Given the description of an element on the screen output the (x, y) to click on. 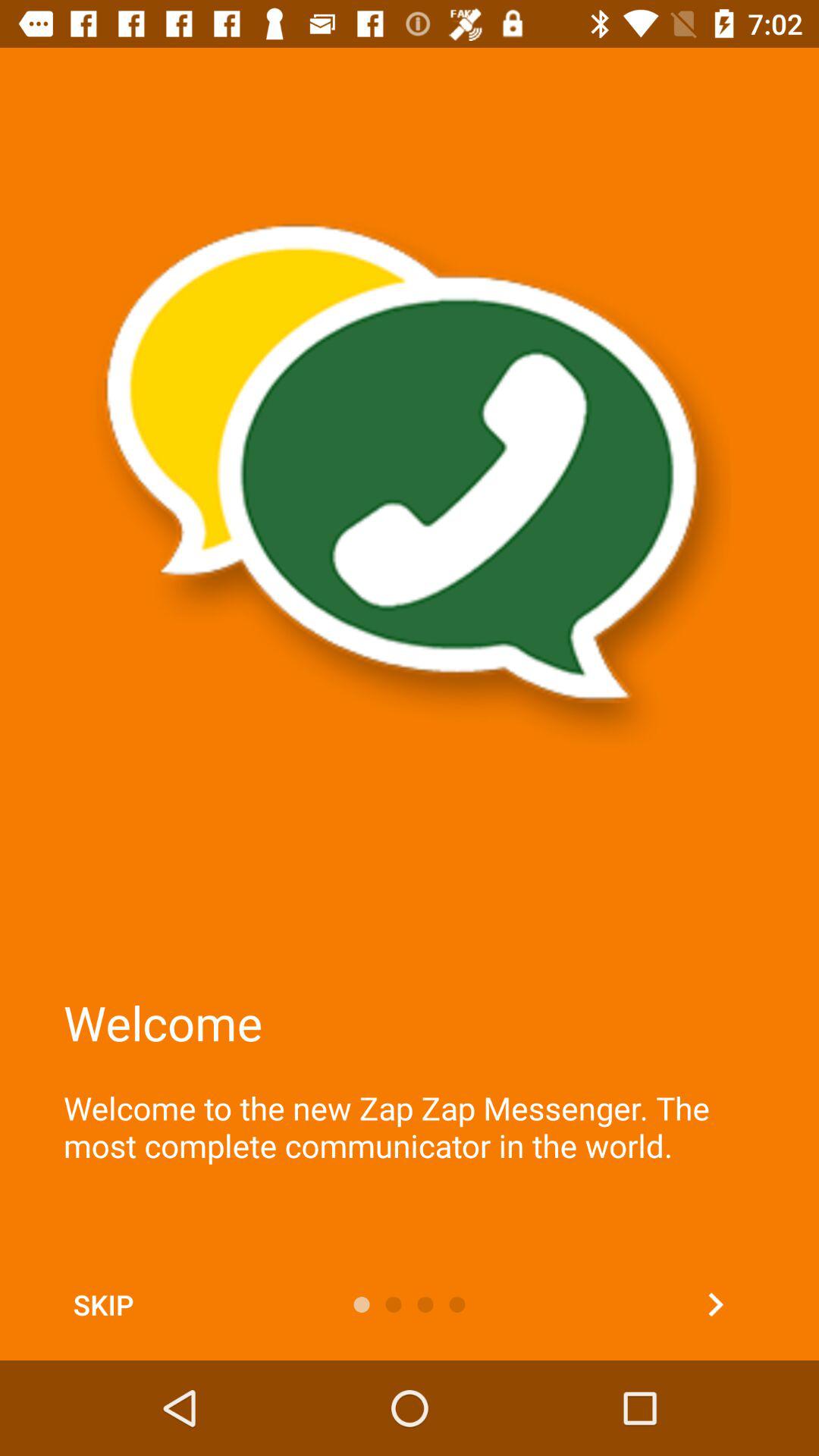
go to next (715, 1304)
